Given the description of an element on the screen output the (x, y) to click on. 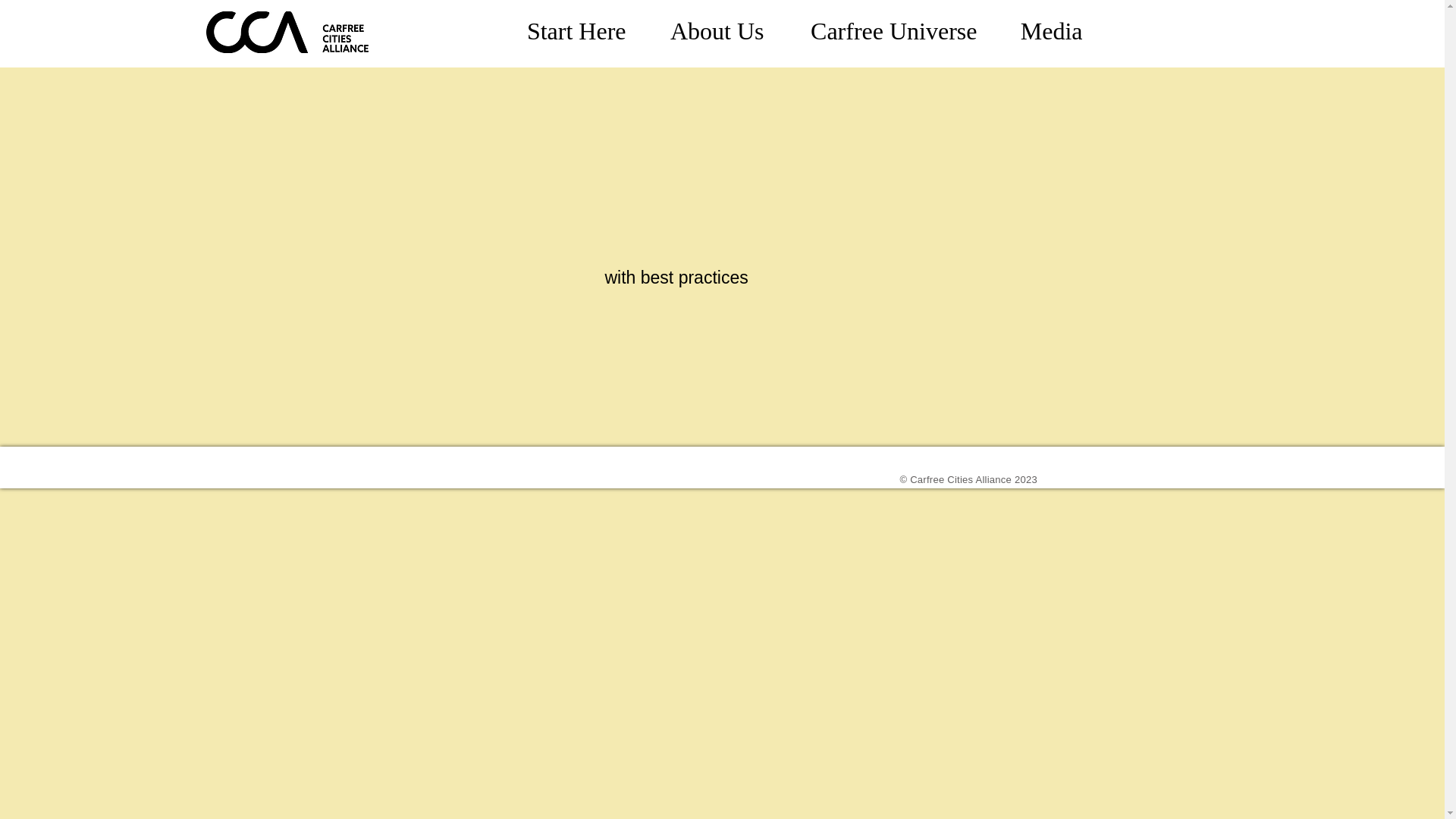
Media (1041, 30)
